Given the description of an element on the screen output the (x, y) to click on. 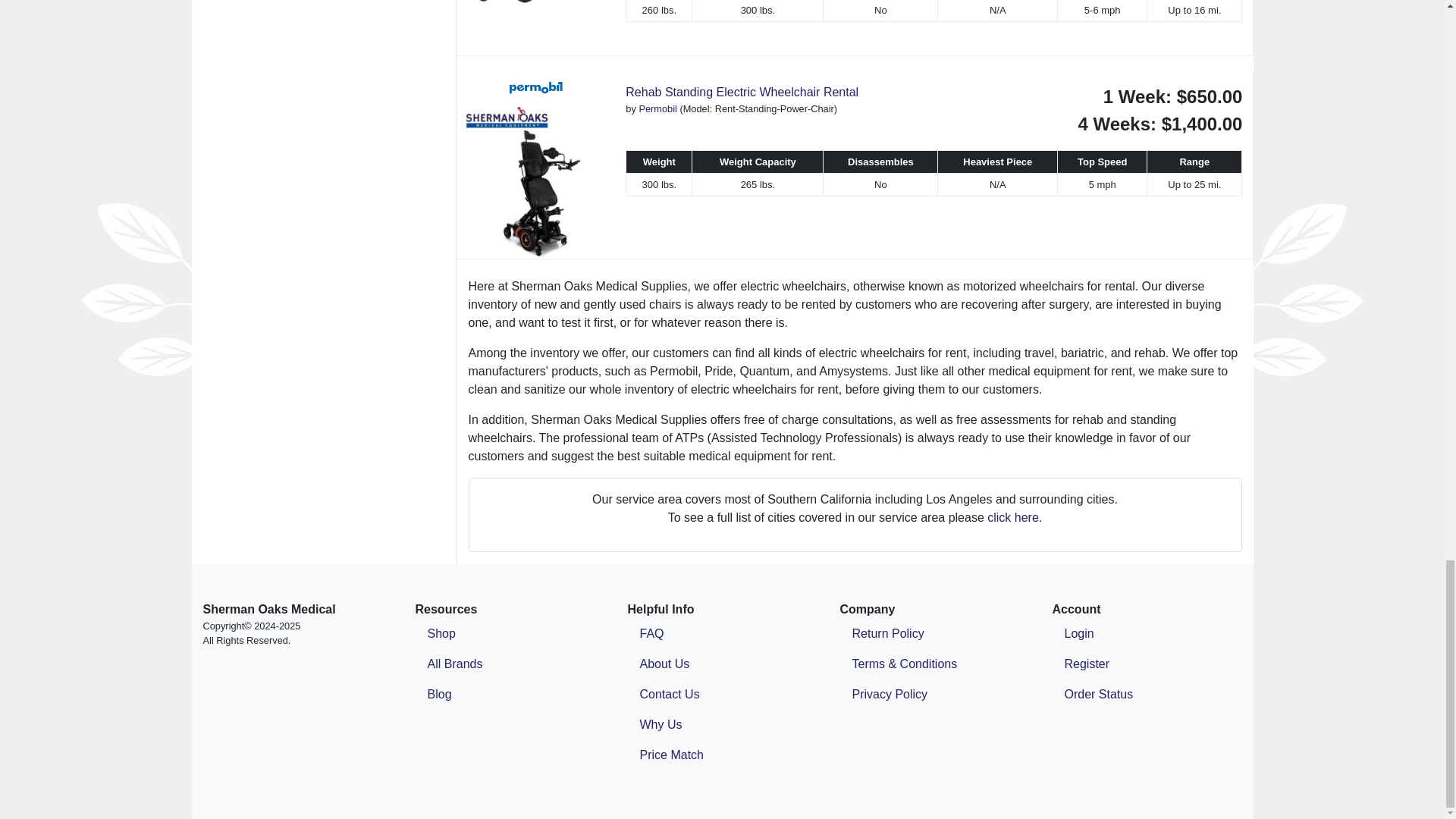
Rehab Standing Electric Wheelchair Rental (536, 166)
